Given the description of an element on the screen output the (x, y) to click on. 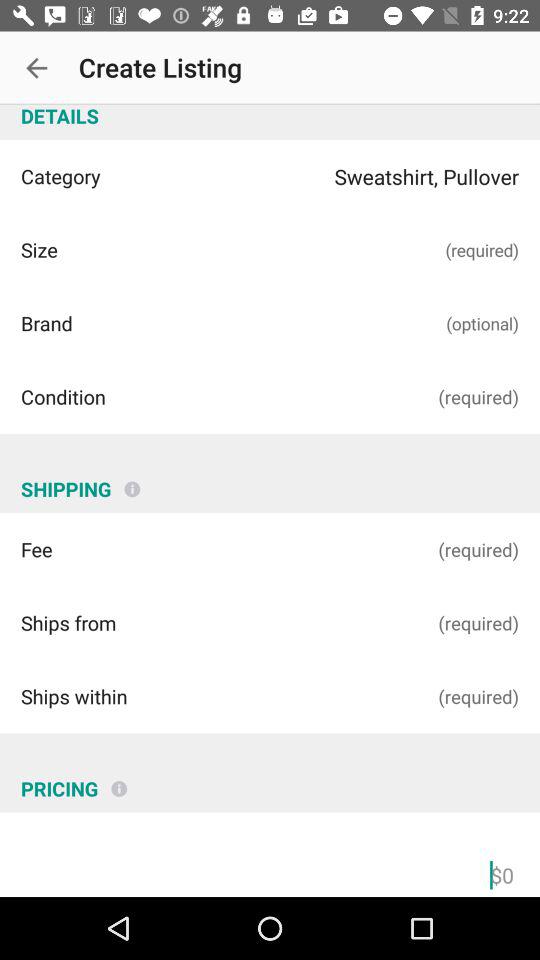
open icon next to create listing icon (36, 67)
